Given the description of an element on the screen output the (x, y) to click on. 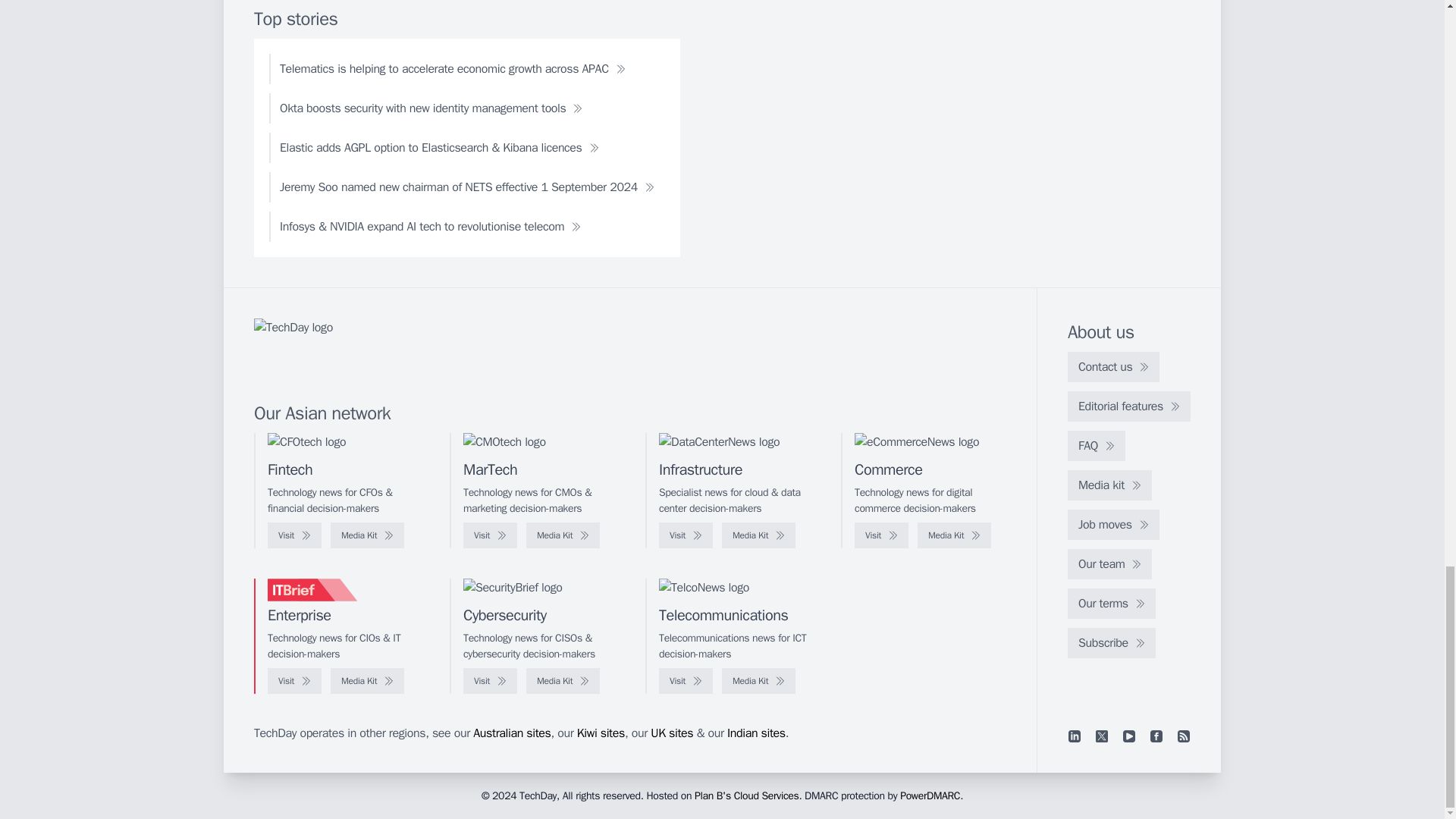
Visit (881, 534)
Visit (489, 534)
Media Kit (758, 534)
Media Kit (954, 534)
Visit (294, 534)
Media Kit (367, 534)
Media Kit (562, 534)
Okta boosts security with new identity management tools (430, 108)
